Given the description of an element on the screen output the (x, y) to click on. 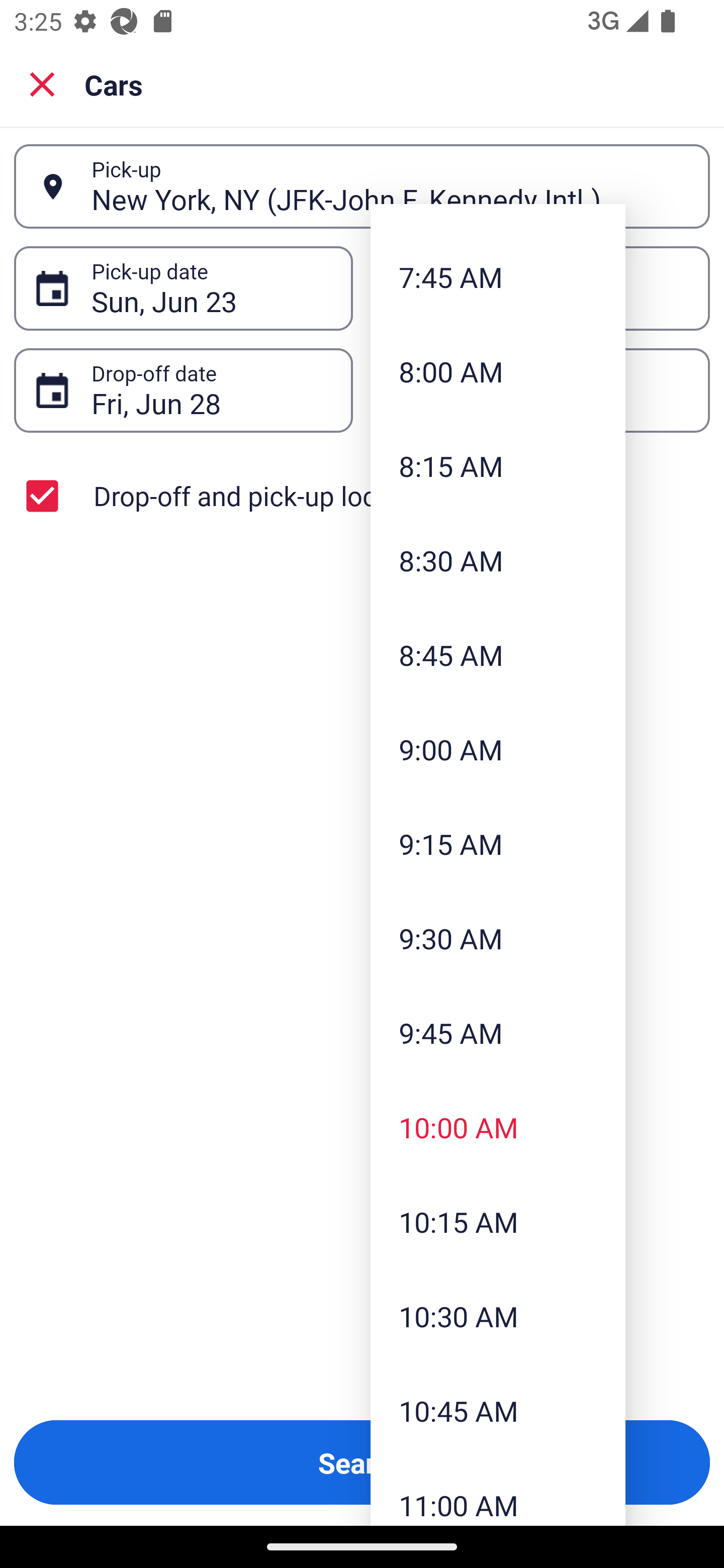
7:45 AM (497, 276)
8:00 AM (497, 371)
8:15 AM (497, 465)
8:30 AM (497, 560)
8:45 AM (497, 655)
9:00 AM (497, 749)
9:15 AM (497, 843)
9:30 AM (497, 938)
9:45 AM (497, 1033)
10:00 AM (497, 1127)
10:15 AM (497, 1221)
10:30 AM (497, 1316)
10:45 AM (497, 1411)
11:00 AM (497, 1491)
